Given the description of an element on the screen output the (x, y) to click on. 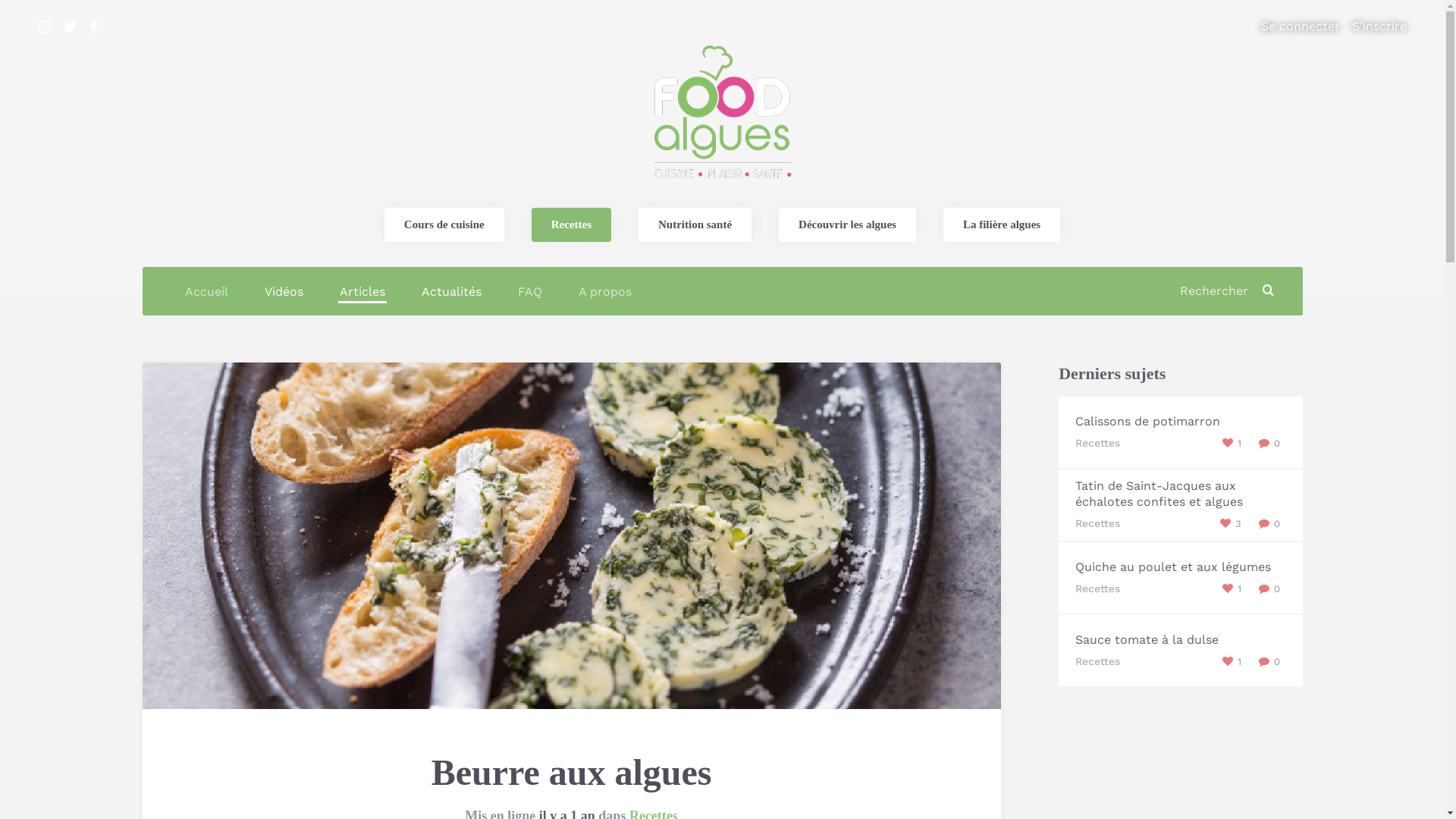
Recettes Element type: text (571, 224)
Rejoignez-nous sur Instagram Element type: hover (43, 26)
S'inscrire Element type: text (1052, 502)
Accueil Element type: text (206, 291)
S'inscrire Element type: text (1379, 26)
Se connecter Element type: text (1300, 26)
A propos Element type: text (604, 291)
FAQ Element type: text (528, 291)
Calissons de potimarron
Recettes
1 0 Element type: text (1180, 432)
Articles Element type: text (362, 291)
Rejoignez-nous sur Facebook Element type: hover (93, 26)
Se connecter Element type: text (721, 476)
Cours de cuisine Element type: text (444, 224)
Rejoignez-nous sur Twitter Element type: hover (69, 26)
